Given the description of an element on the screen output the (x, y) to click on. 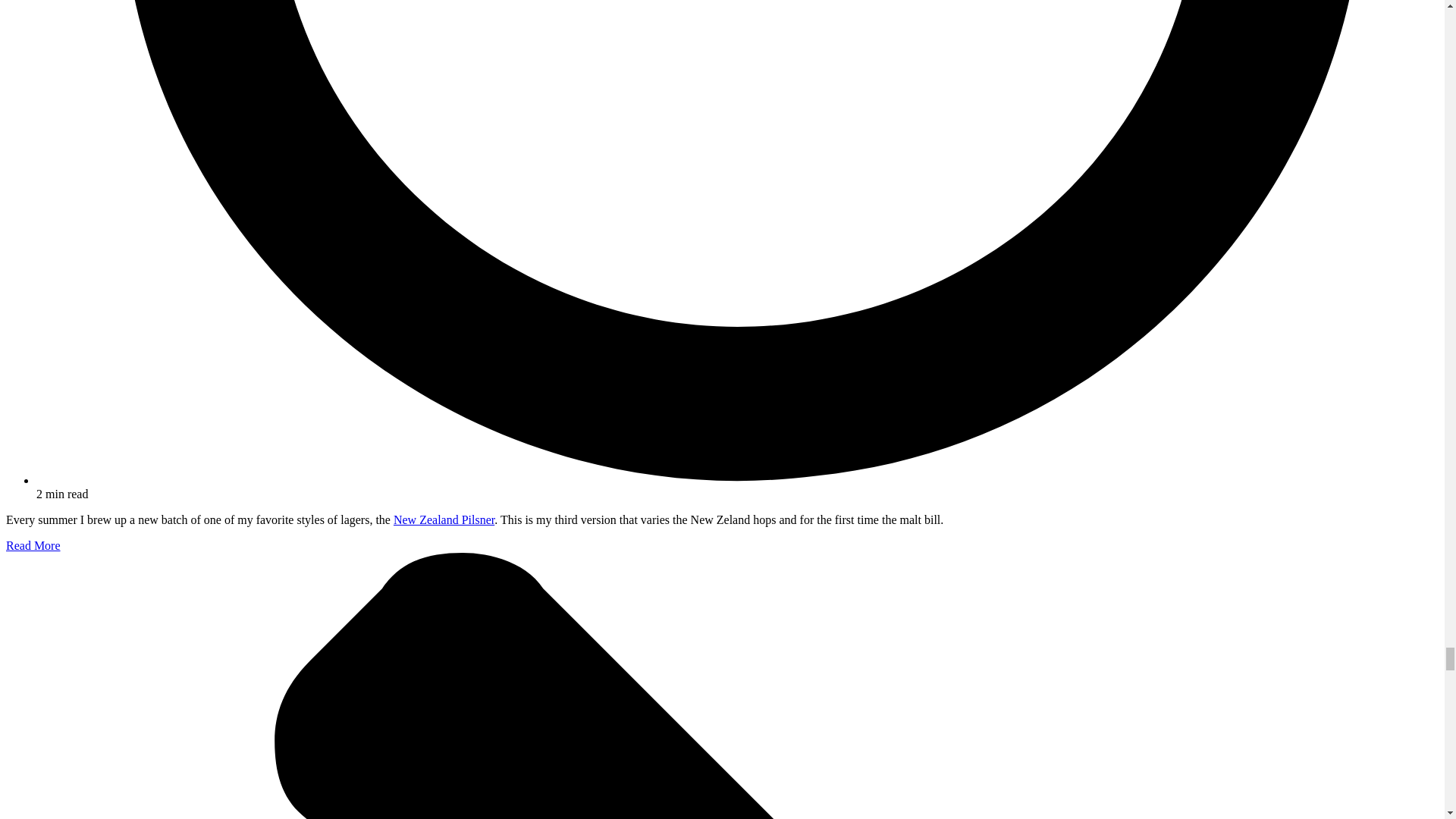
New Zealand Pilsner (444, 519)
